Given the description of an element on the screen output the (x, y) to click on. 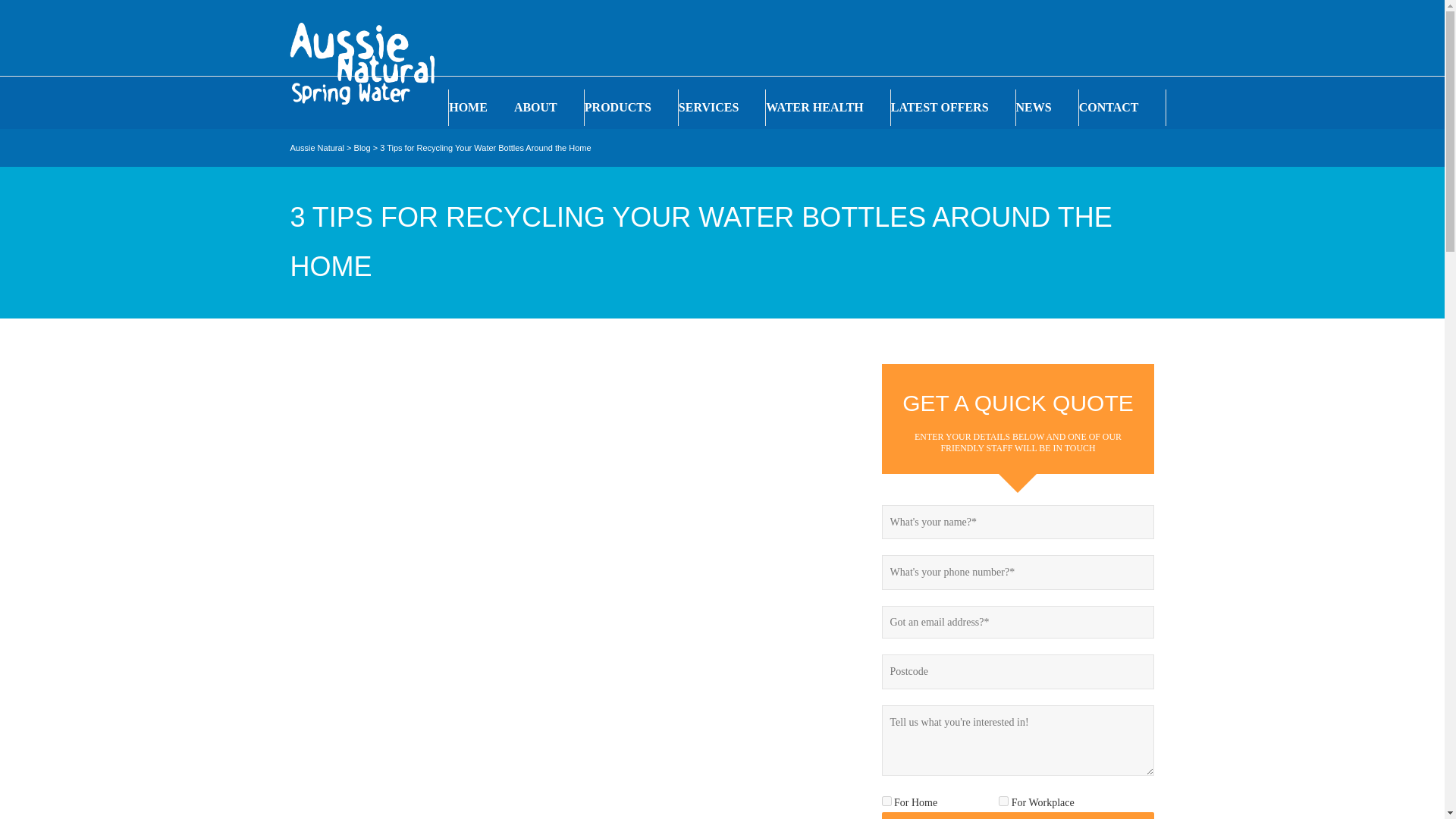
HOME (480, 107)
For Workplace (1003, 800)
For Home (885, 800)
Go to Aussie Natural. (316, 147)
Go to the Blog Category archives. (362, 147)
